Given the description of an element on the screen output the (x, y) to click on. 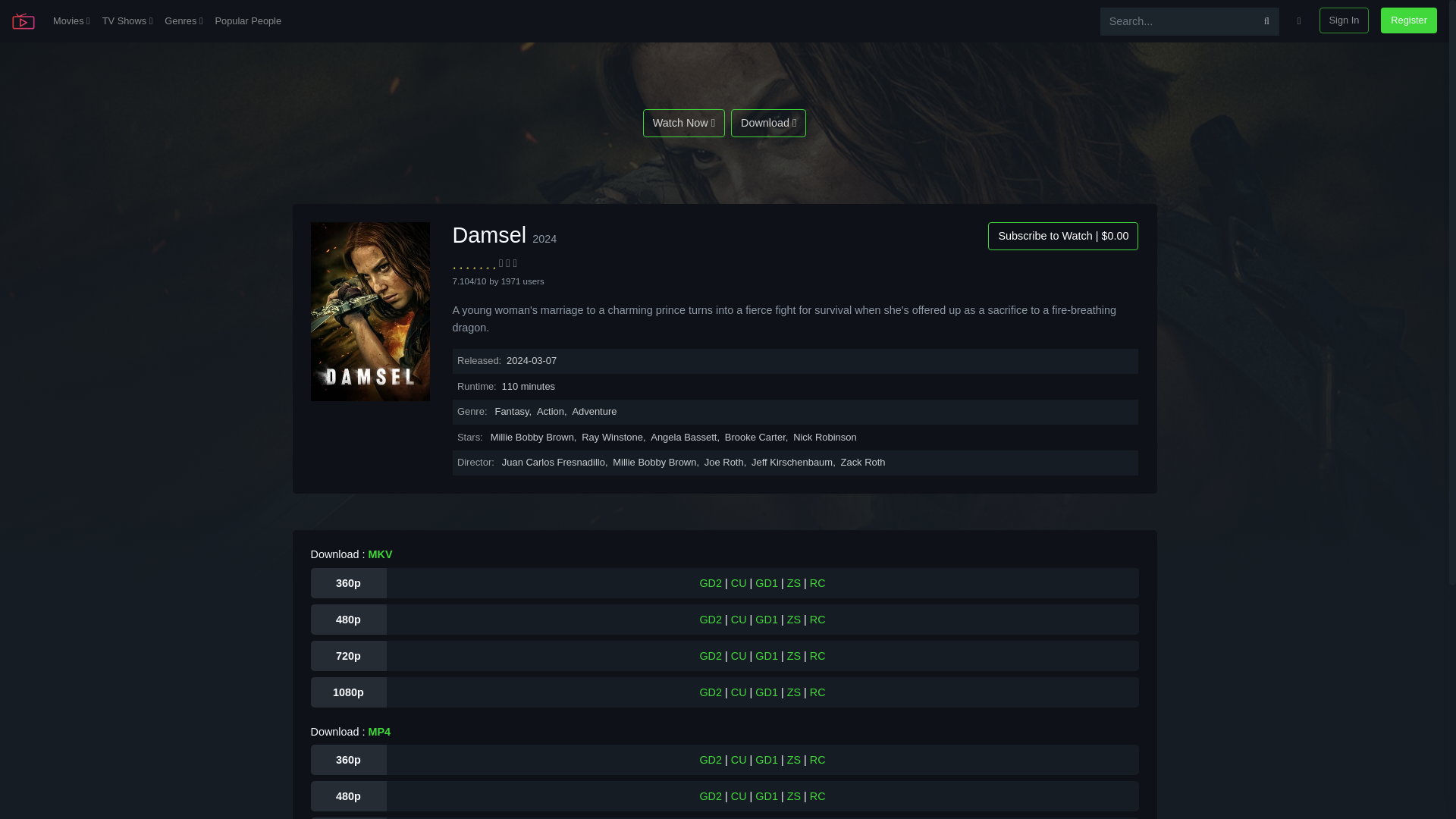
Movies (71, 21)
TV Shows (127, 21)
